Given the description of an element on the screen output the (x, y) to click on. 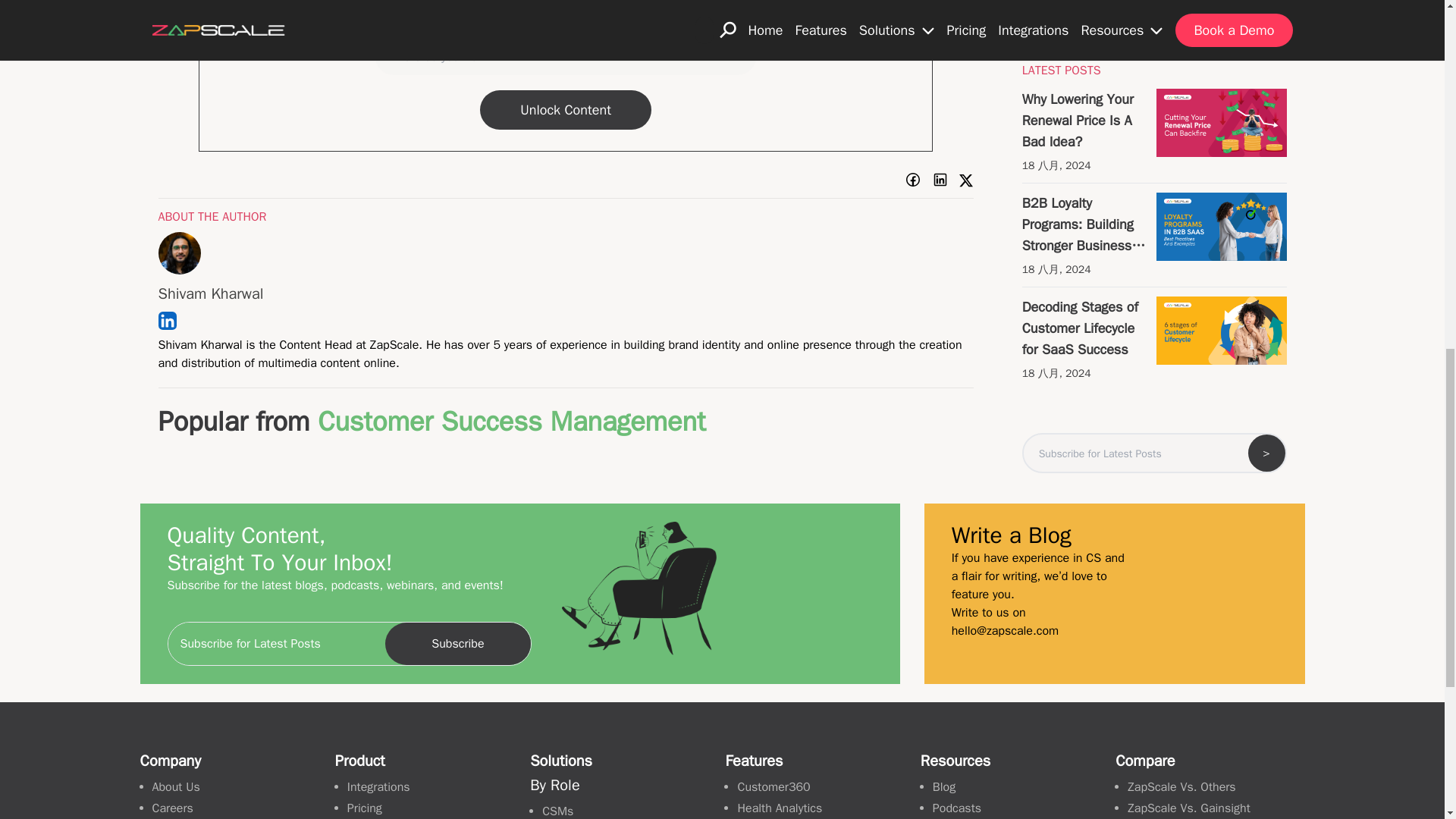
Subscribe (457, 643)
About Us (175, 786)
Share on Facebook (912, 179)
Share on LinkedIn (940, 179)
CSMs (557, 811)
Integrations (378, 786)
Unlock Content (565, 109)
Pricing (364, 807)
Careers (171, 807)
